Given the description of an element on the screen output the (x, y) to click on. 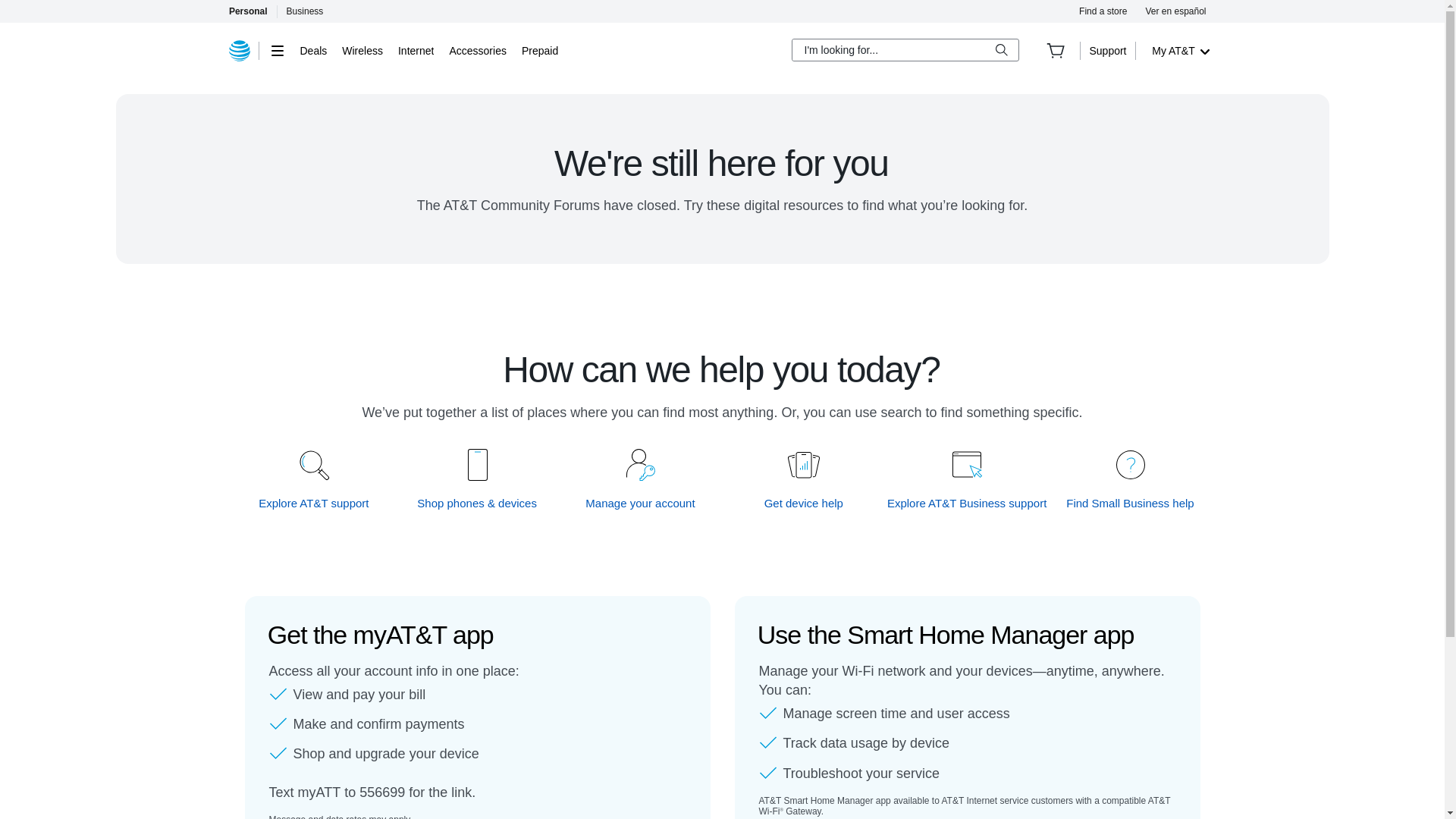
Get device help (803, 503)
Search (1000, 50)
Prepaid (539, 50)
Business (305, 10)
Manage your account (640, 503)
Wireless (362, 50)
Support (1107, 50)
Find a store (1102, 10)
Personal (247, 10)
Internet (415, 50)
Find Small Business help (1130, 503)
Support (1107, 50)
Accessories (476, 50)
